Given the description of an element on the screen output the (x, y) to click on. 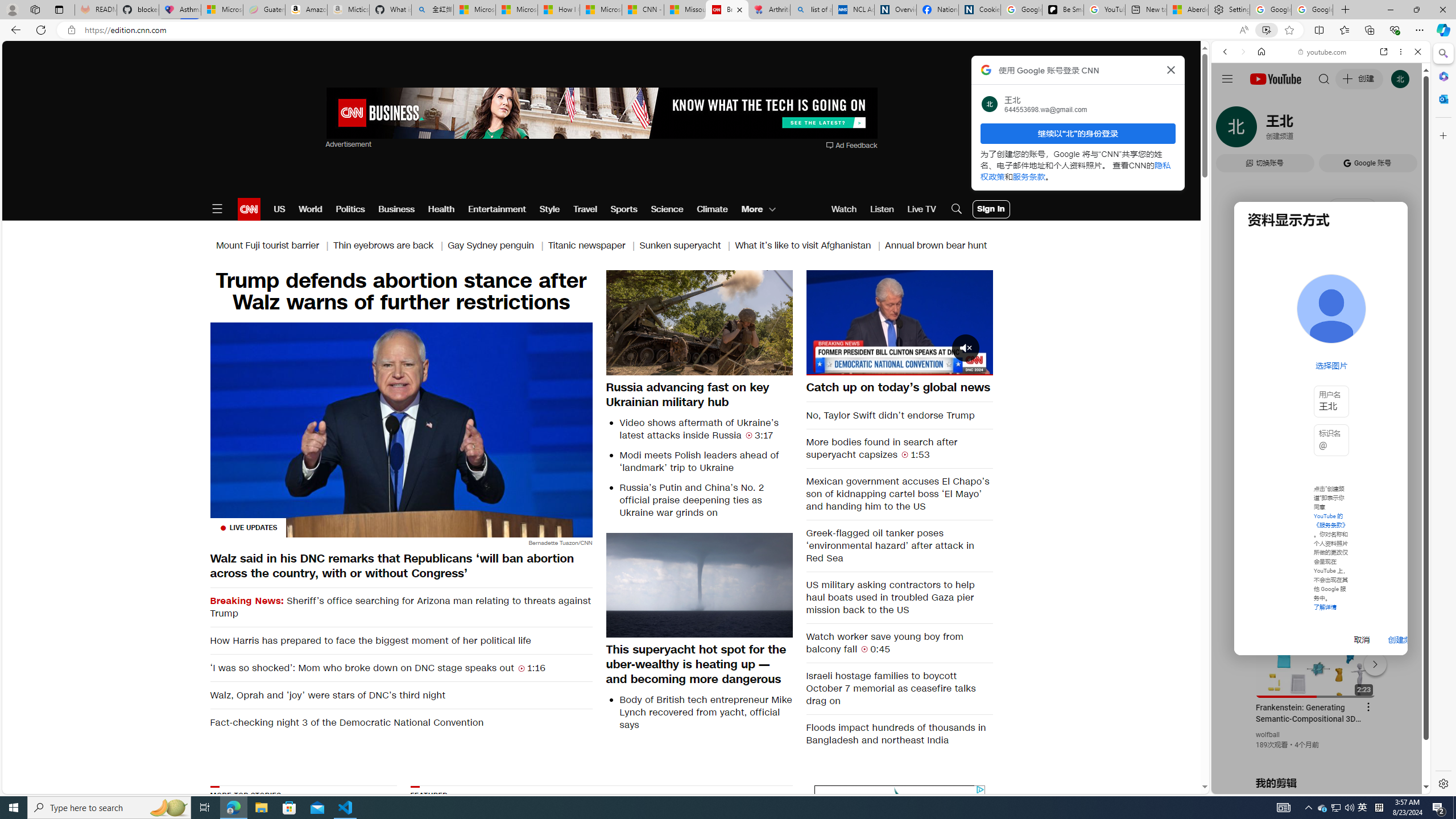
Pause (898, 322)
Titanic newspaper | (593, 245)
Fullscreen (976, 365)
